Given the description of an element on the screen output the (x, y) to click on. 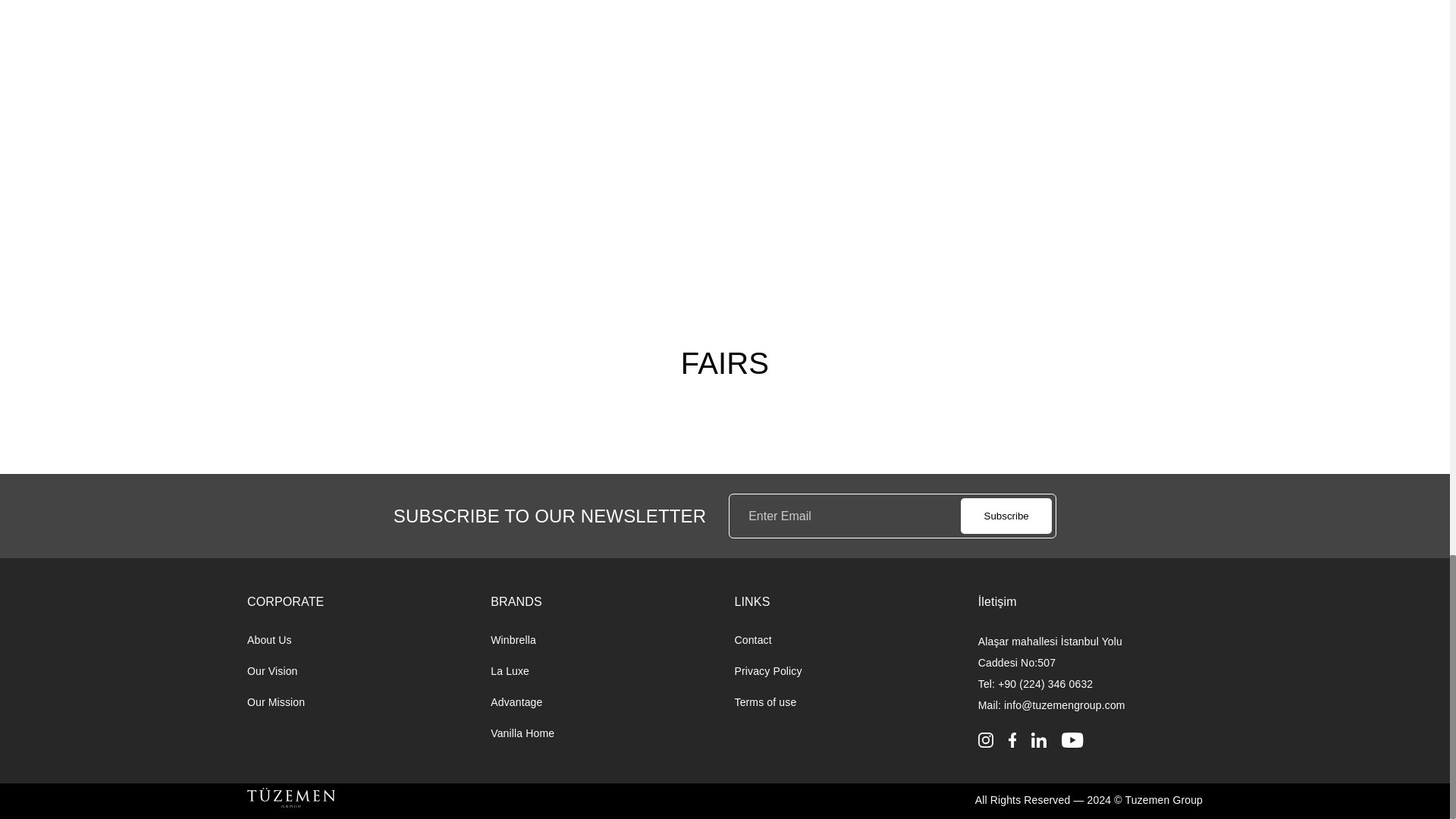
Vanilla Home (522, 733)
Subscribe (1005, 515)
Our Mission (275, 702)
La Luxe (509, 671)
About Us (269, 639)
BRANDS (515, 601)
Advantage (515, 702)
CORPORATE (285, 601)
LINKS (751, 601)
Our Vision (272, 671)
